Given the description of an element on the screen output the (x, y) to click on. 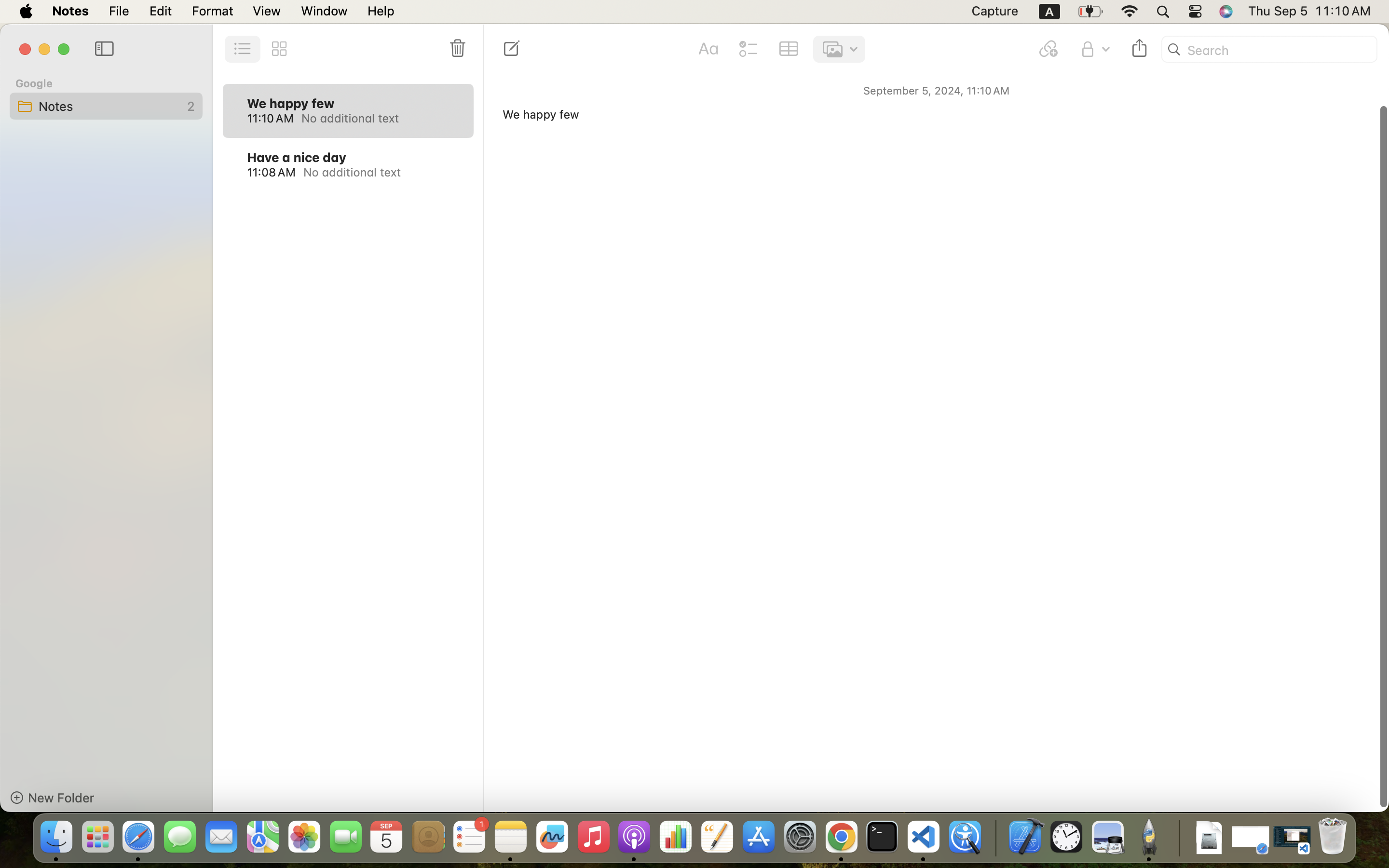
Shared Notes Element type: AXStaticText (1078, 184)
Suggested Searches Element type: AXStaticText (1064, 163)
We happy few Element type: AXStaticText (290, 102)
Notes with Scanned Documents Element type: AXStaticText (1078, 290)
